Given the description of an element on the screen output the (x, y) to click on. 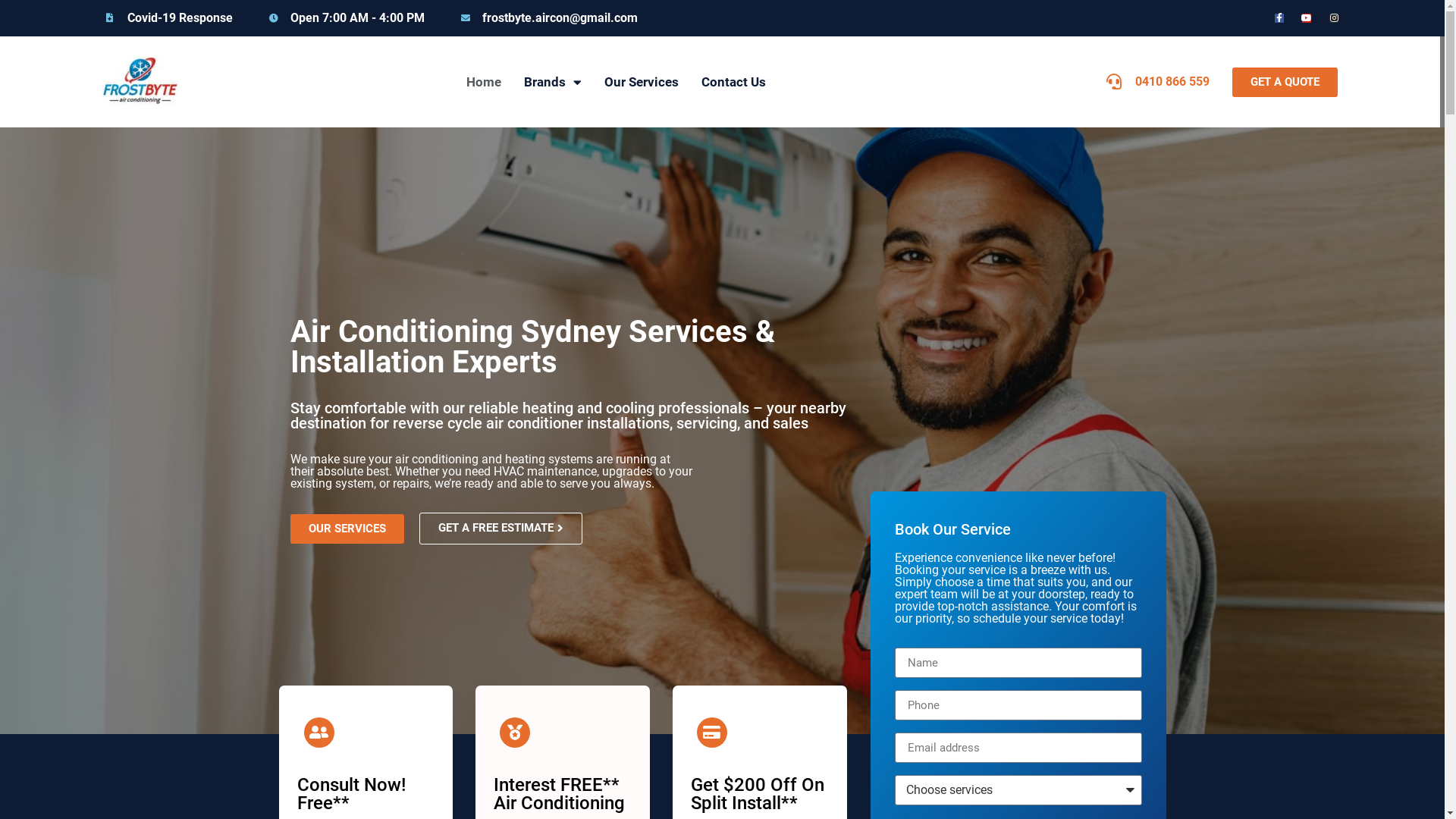
Home Element type: text (483, 81)
0410 866 559 Element type: text (1157, 81)
OUR SERVICES Element type: text (346, 528)
GET A QUOTE Element type: text (1284, 81)
GET A FREE ESTIMATE Element type: text (499, 528)
Contact Us Element type: text (733, 81)
Our Services Element type: text (641, 81)
Brands Element type: text (552, 81)
